Given the description of an element on the screen output the (x, y) to click on. 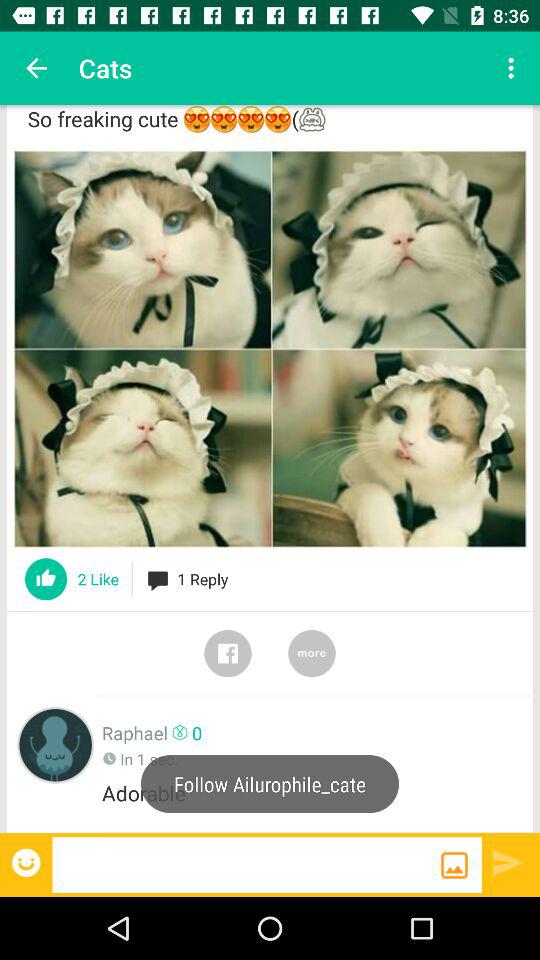
click so freaking cute (269, 124)
